Given the description of an element on the screen output the (x, y) to click on. 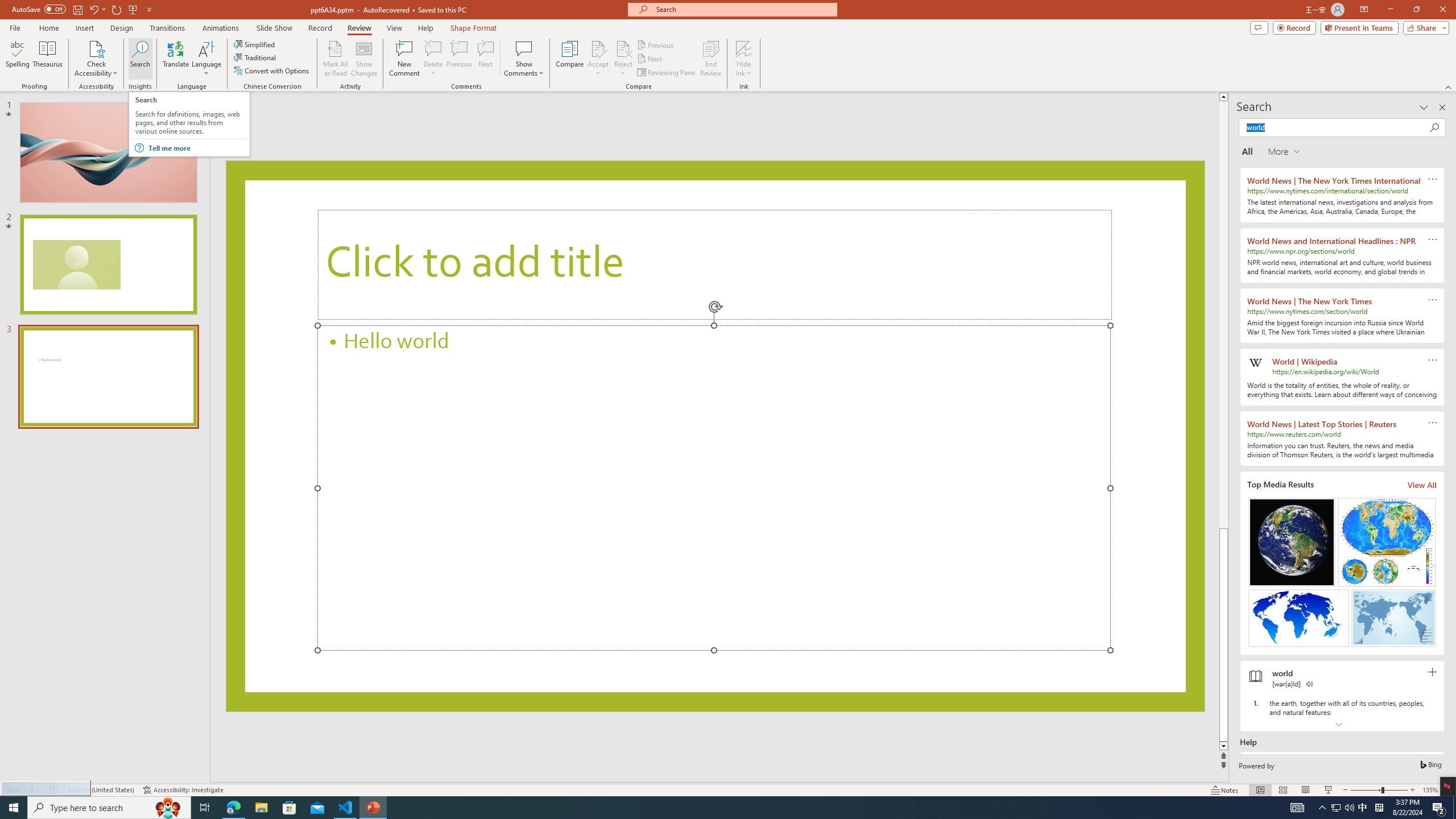
Spelling... (17, 58)
Traditional (255, 56)
Previous (655, 44)
End Review (710, 58)
